Given the description of an element on the screen output the (x, y) to click on. 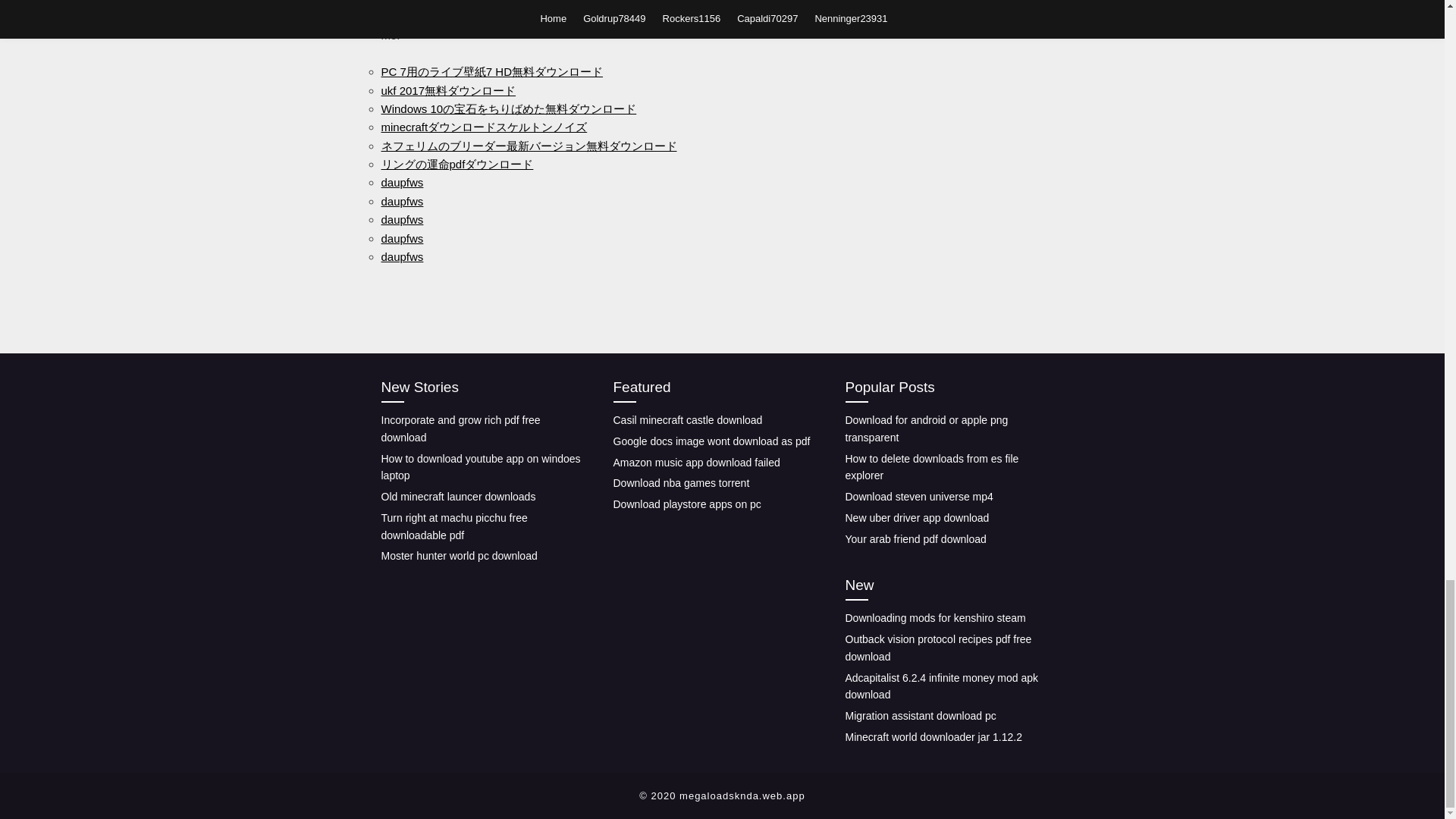
daupfws (401, 182)
How to download youtube app on windoes laptop (479, 467)
How to delete downloads from es file explorer (930, 467)
Incorporate and grow rich pdf free download (460, 428)
daupfws (401, 219)
Migration assistant download pc (919, 715)
Download for android or apple png transparent (925, 428)
Outback vision protocol recipes pdf free download (937, 647)
Download steven universe mp4 (918, 496)
Download playstore apps on pc (686, 503)
Amazon music app download failed (695, 462)
Google docs image wont download as pdf (710, 440)
Casil minecraft castle download (686, 419)
Adcapitalist 6.2.4 infinite money mod apk download (940, 685)
Moster hunter world pc download (458, 555)
